Given the description of an element on the screen output the (x, y) to click on. 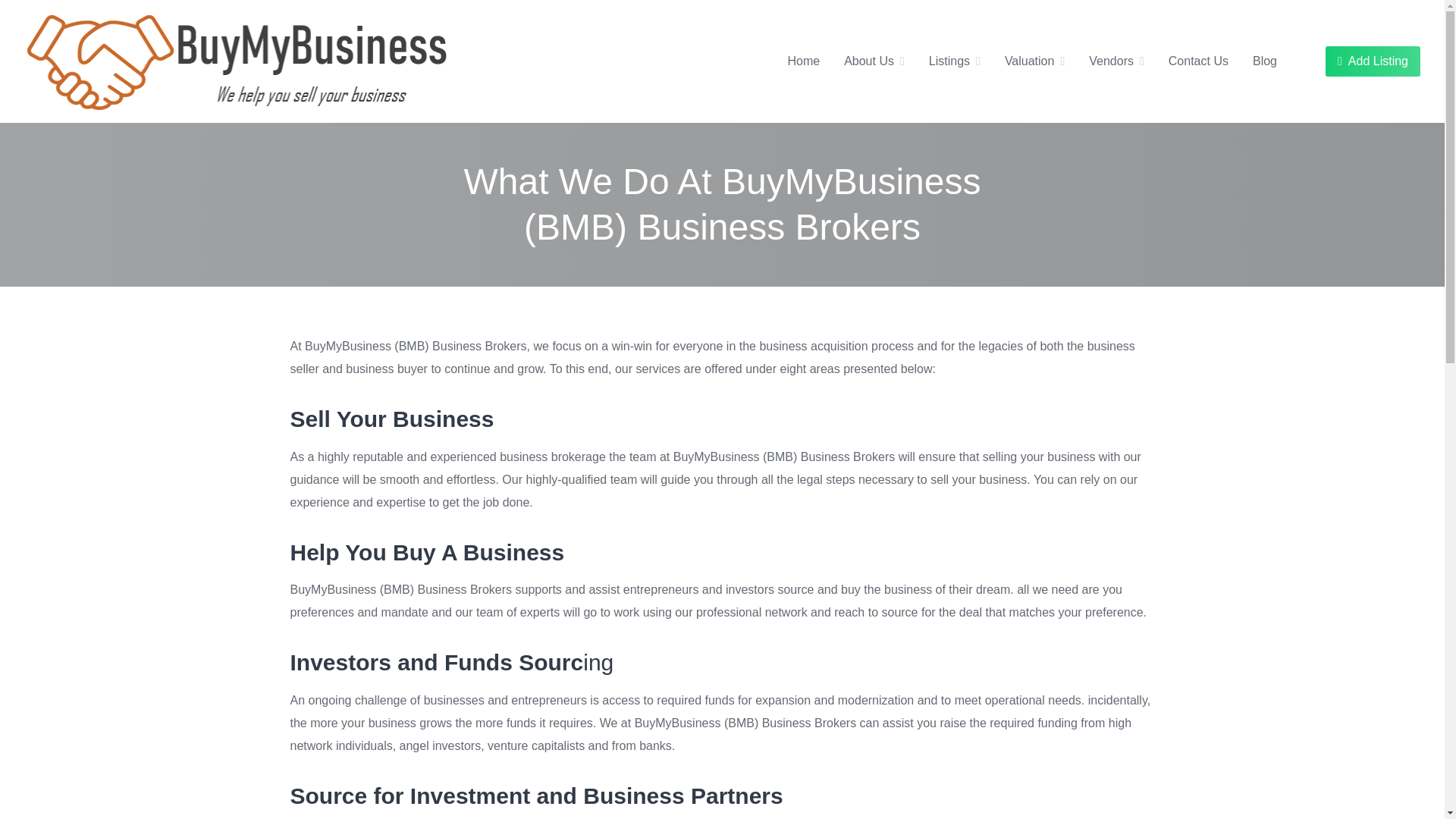
About Us (868, 61)
Listings (948, 61)
Home (803, 61)
Valuation (1029, 61)
